Given the description of an element on the screen output the (x, y) to click on. 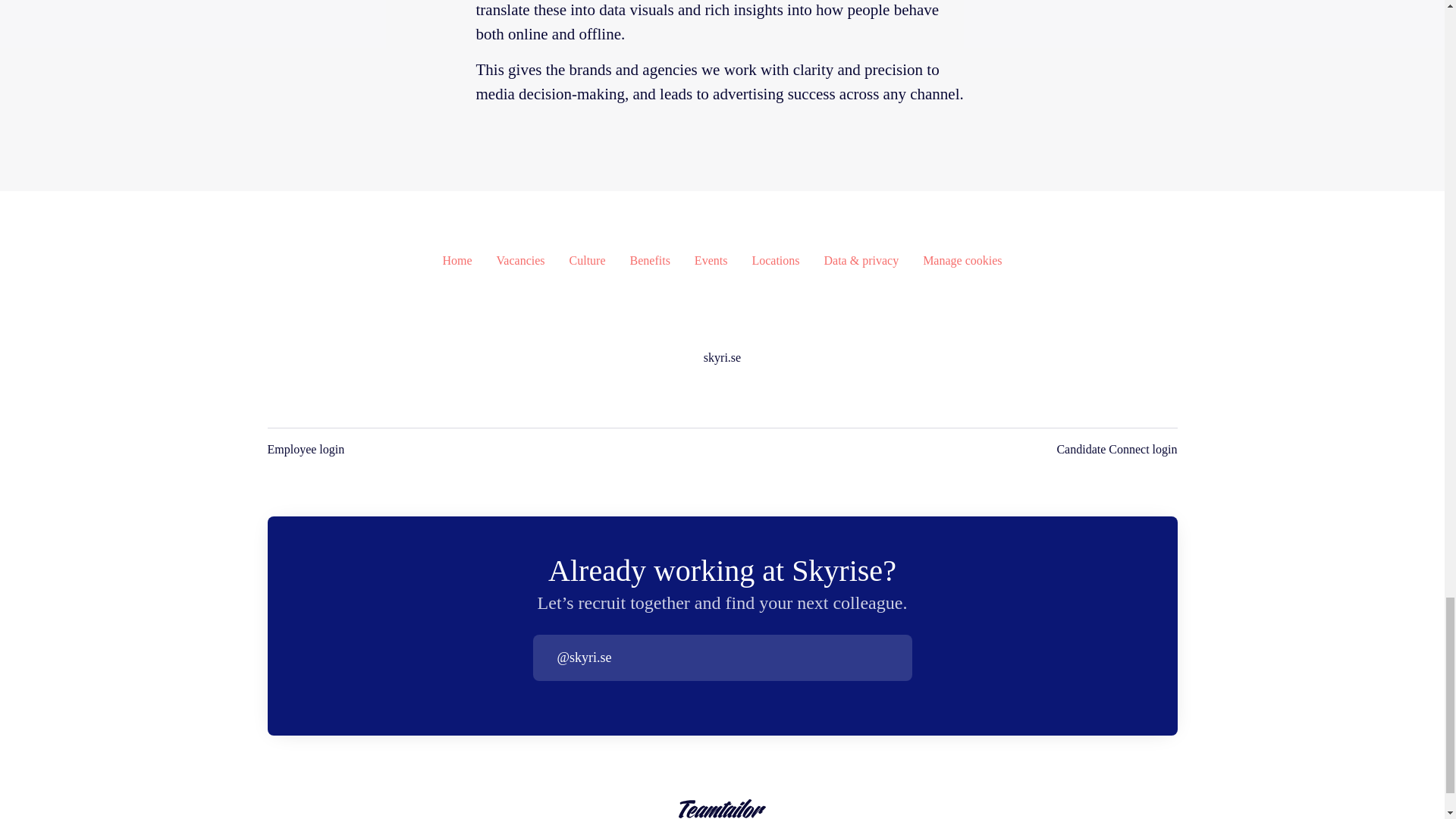
Culture (587, 260)
Manage cookies (962, 260)
Home (456, 260)
Locations (774, 260)
Benefits (649, 260)
Vacancies (520, 260)
Events (710, 260)
skyri.se (722, 357)
Log in (899, 657)
